Given the description of an element on the screen output the (x, y) to click on. 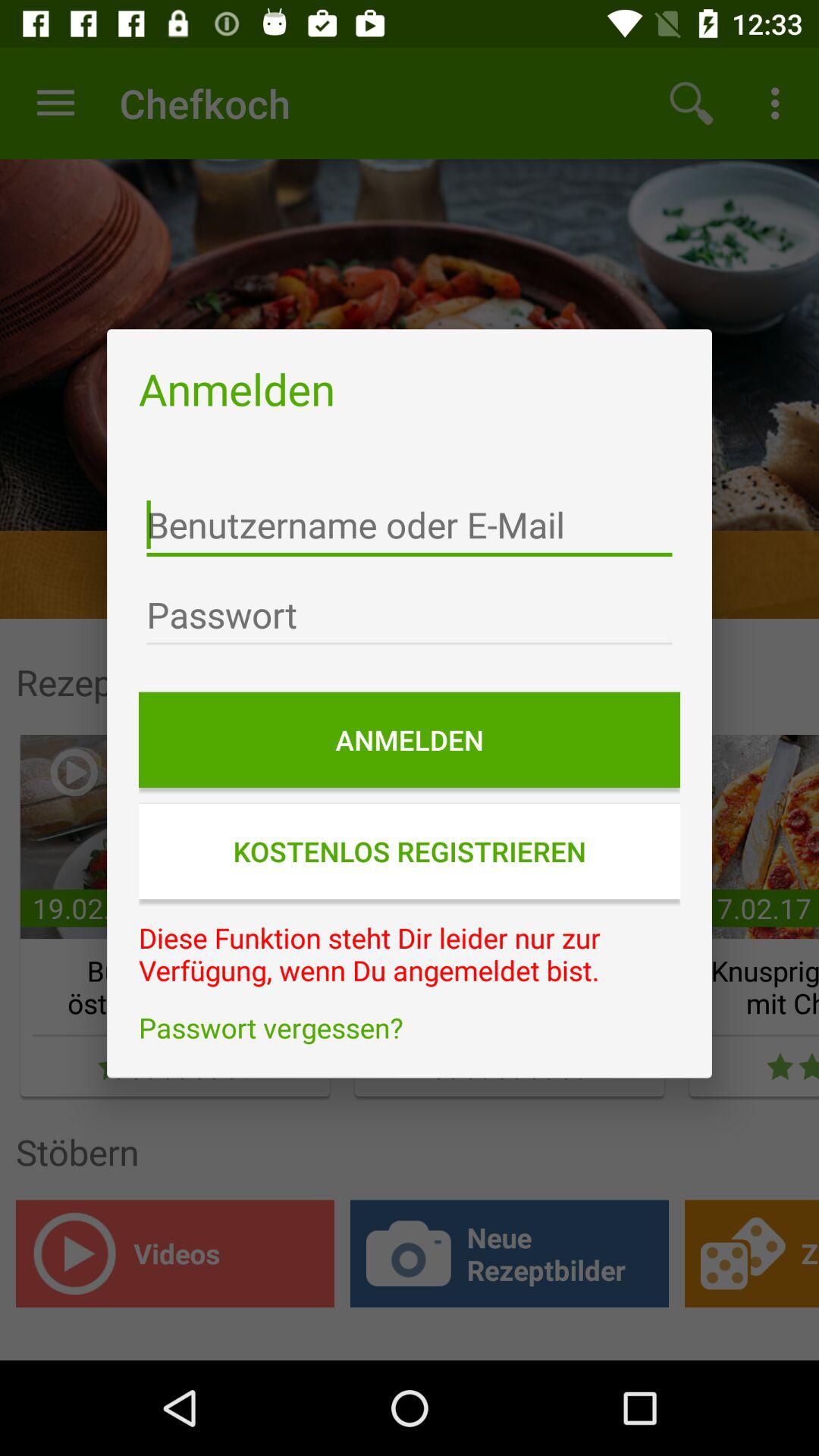
tap the item above diese funktion steht item (409, 851)
